Given the description of an element on the screen output the (x, y) to click on. 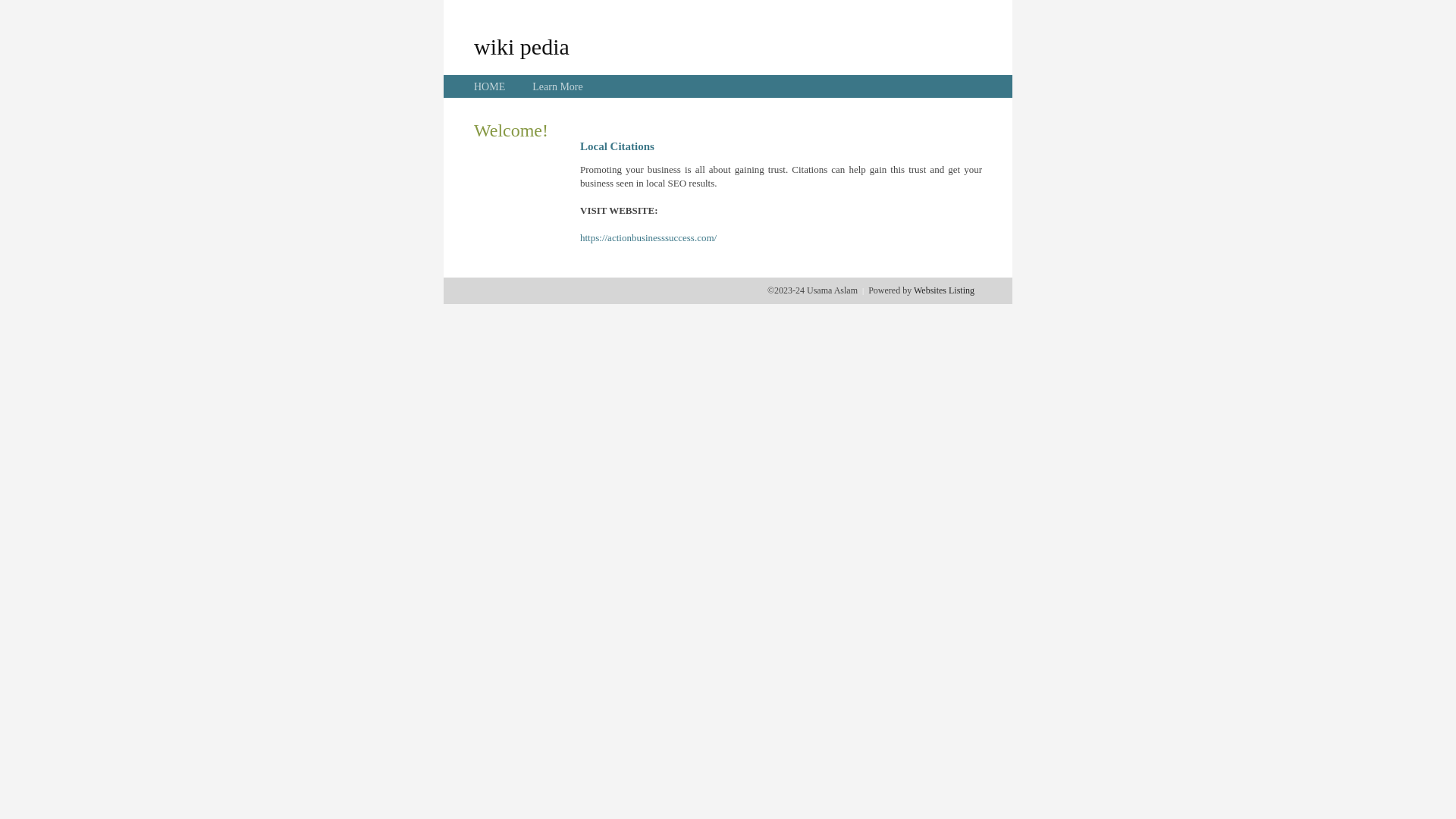
Websites Listing Element type: text (943, 290)
https://actionbusinesssuccess.com/ Element type: text (648, 237)
HOME Element type: text (489, 86)
Learn More Element type: text (557, 86)
wiki pedia Element type: text (521, 46)
